Given the description of an element on the screen output the (x, y) to click on. 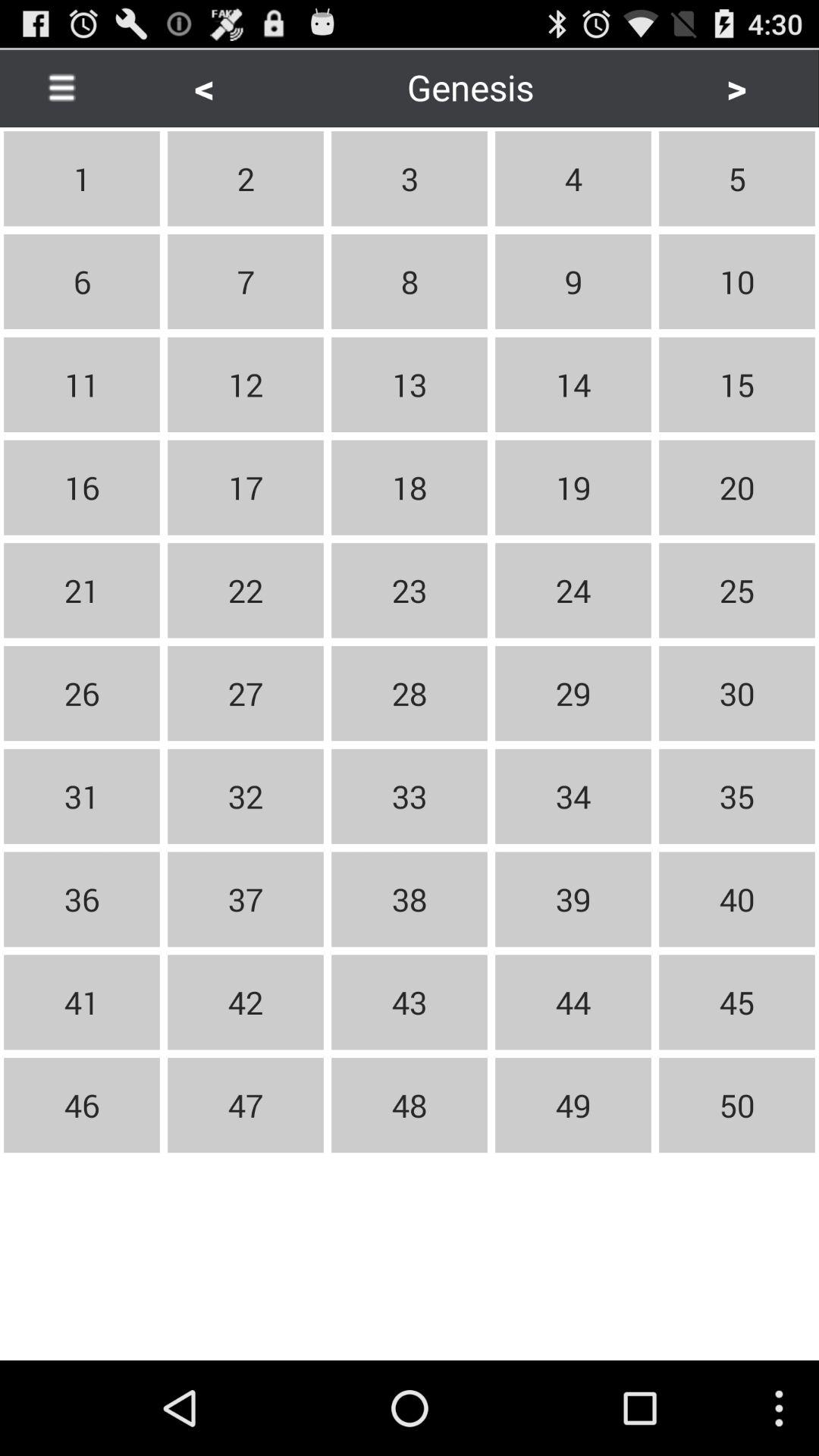
turn off icon to the left of the < (61, 87)
